Given the description of an element on the screen output the (x, y) to click on. 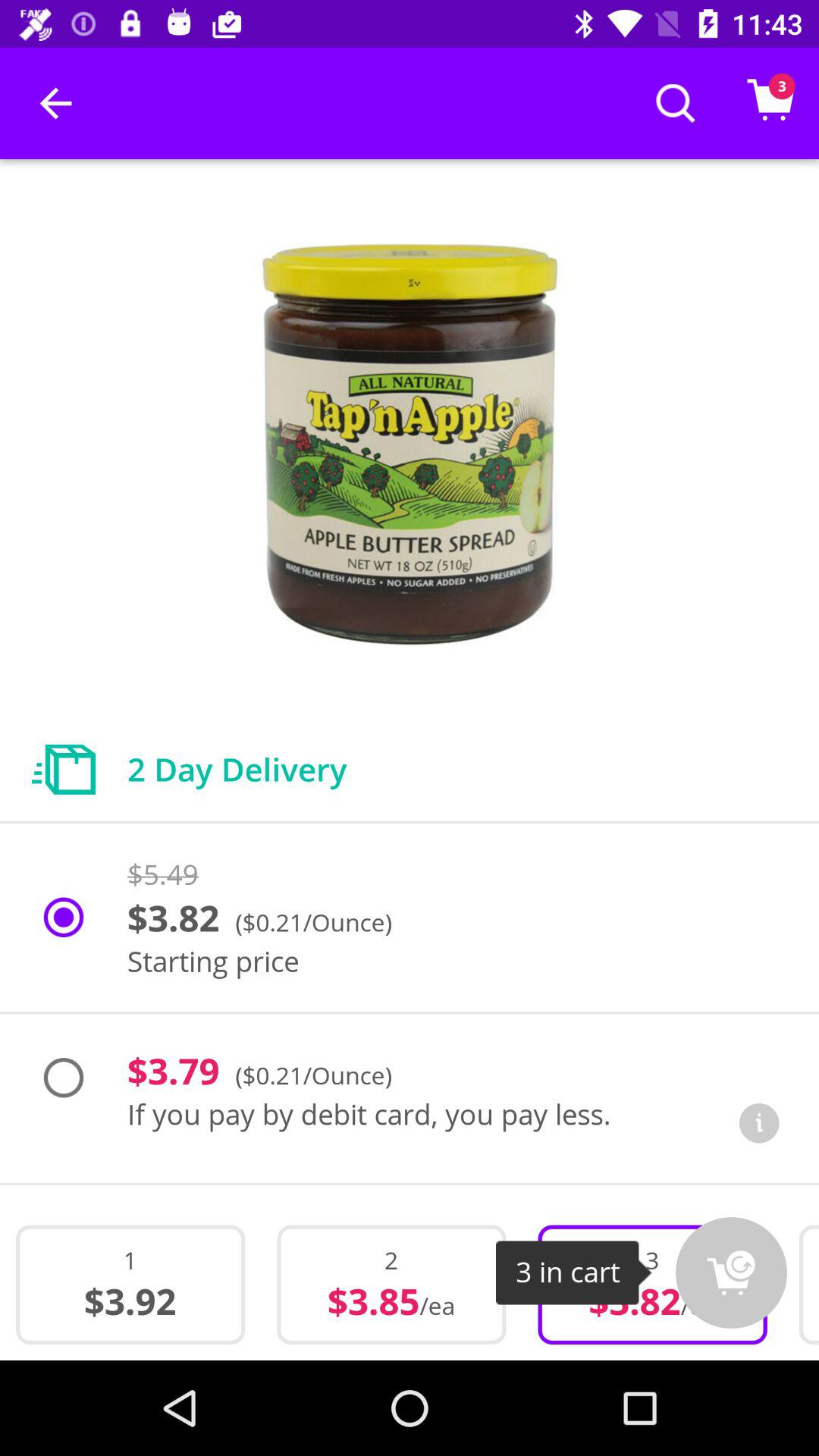
open shopping cart (731, 1272)
